Given the description of an element on the screen output the (x, y) to click on. 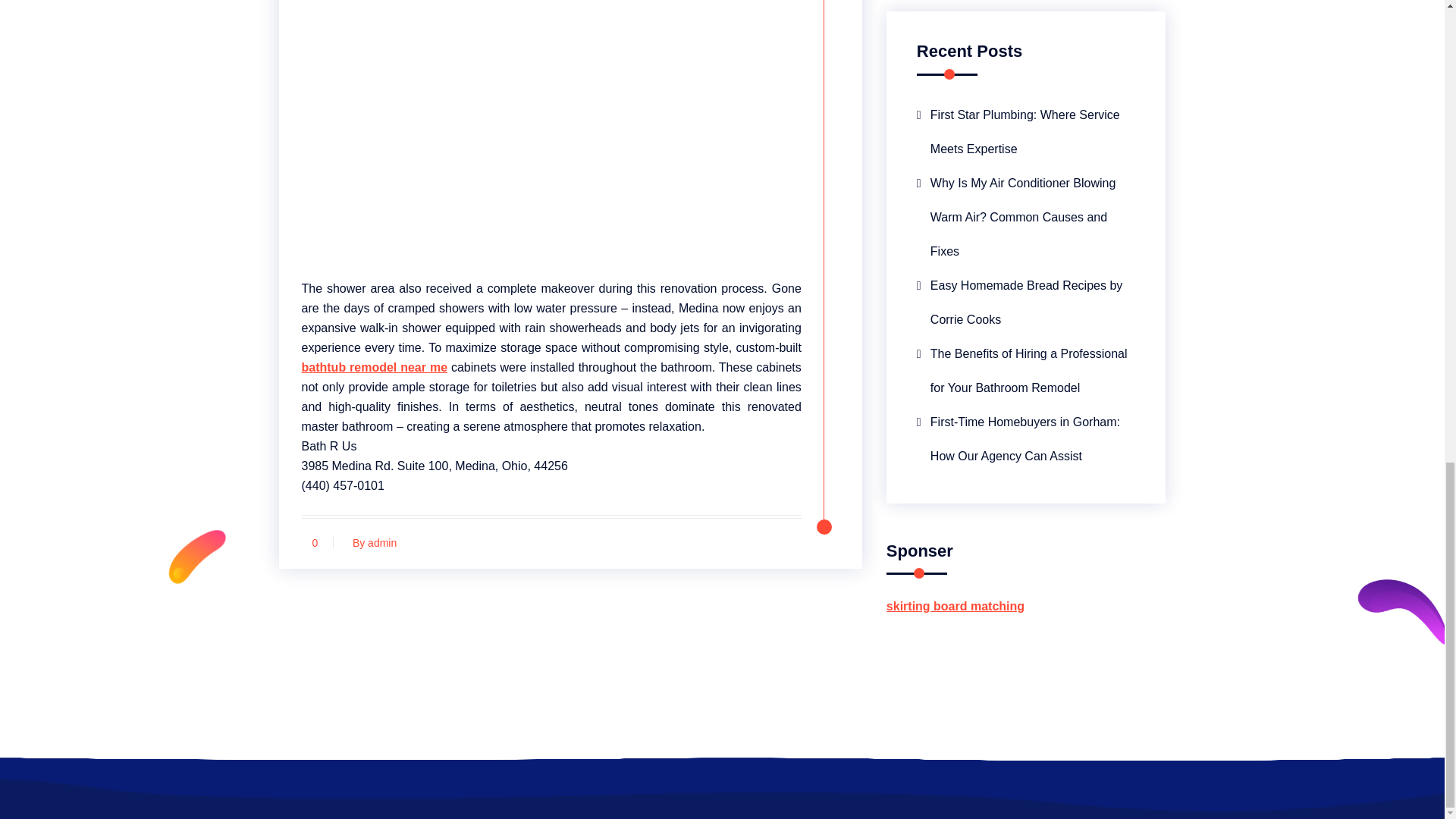
Easy Homemade Bread Recipes by Corrie Cooks (1026, 302)
0 (315, 542)
First-Time Homebuyers in Gorham: How Our Agency Can Assist (1026, 438)
First Star Plumbing: Where Service Meets Expertise (1026, 131)
bathtub remodel near me (374, 367)
skirting board matching (955, 605)
By admin (370, 542)
